Given the description of an element on the screen output the (x, y) to click on. 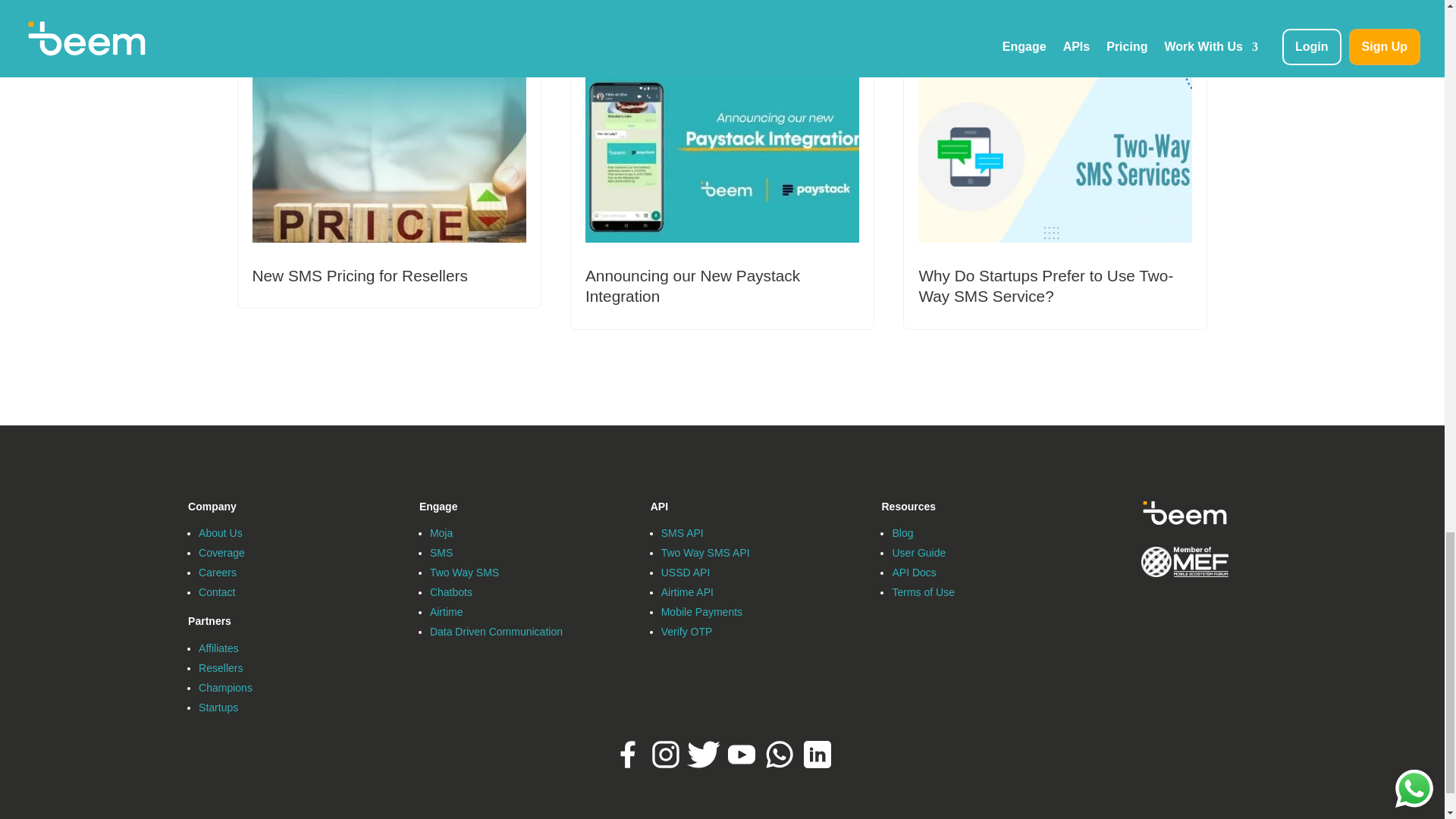
Beem on Youtube (741, 754)
Beem Logo (1184, 512)
Moja (440, 532)
SMS (440, 552)
Beem on Twitter (703, 754)
Careers (216, 572)
Affiliates (218, 648)
Coverage (221, 552)
Find Beem on LinkedIn (816, 754)
The Moja Chat Platform by Beem (440, 532)
Champions (224, 687)
Contact (216, 592)
Startups (218, 707)
Why Do Startups Prefer to Use Two-Way SMS Service? (1045, 285)
Beem on Instagram (665, 754)
